Given the description of an element on the screen output the (x, y) to click on. 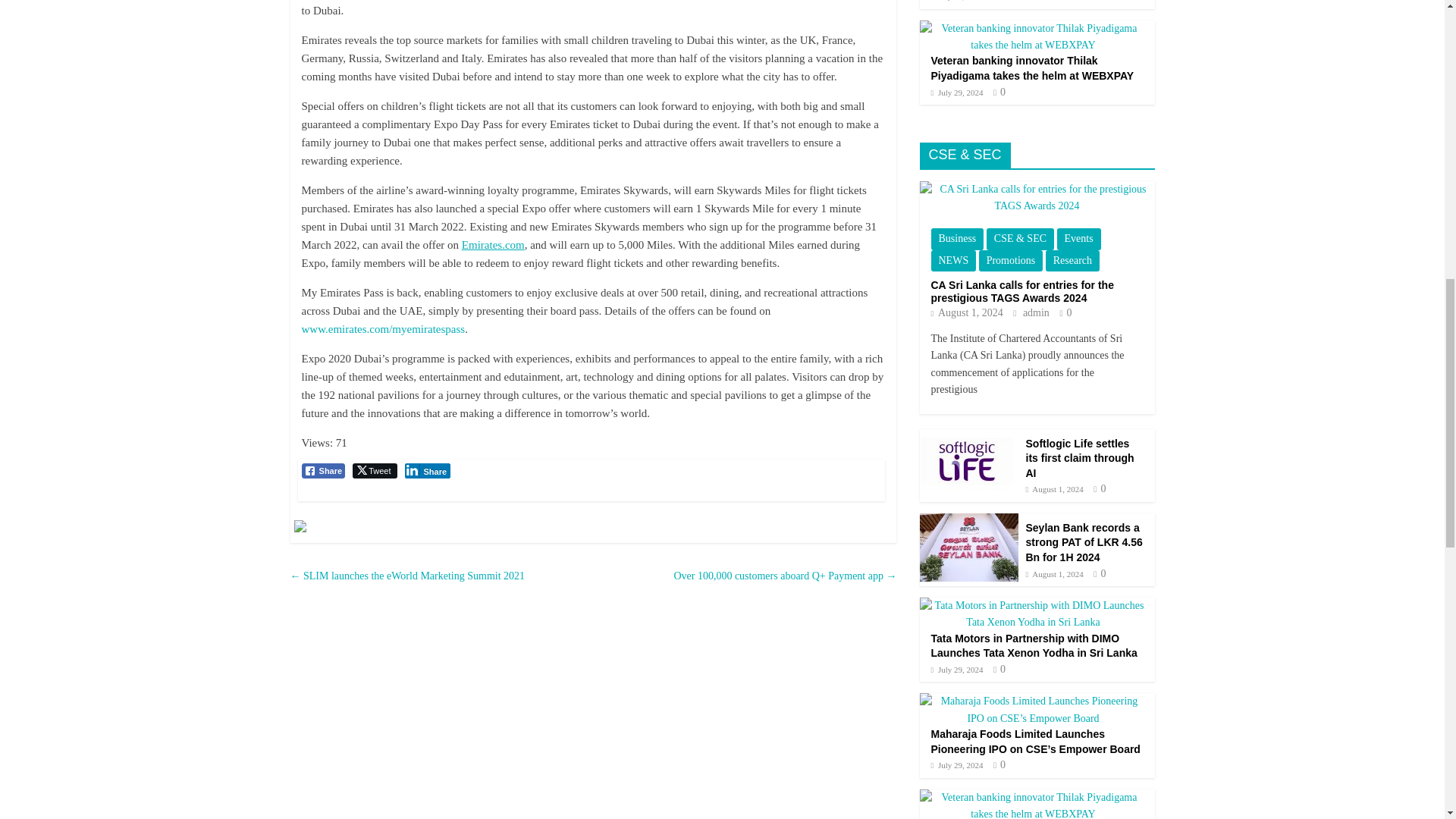
Share (427, 470)
Share (323, 470)
Tweet (374, 470)
Emirates.com (492, 244)
